Given the description of an element on the screen output the (x, y) to click on. 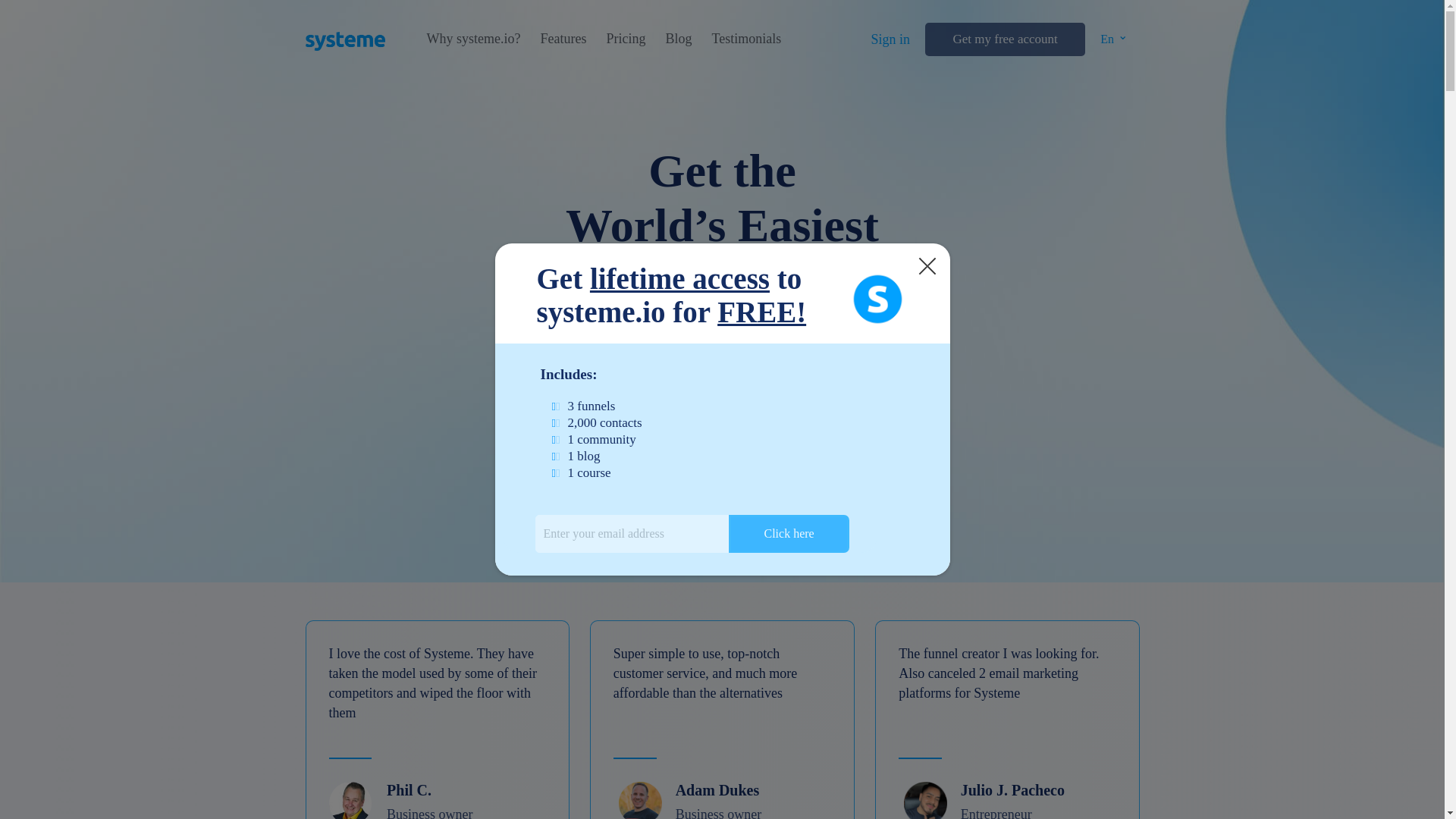
Why systeme.io? (472, 38)
Get my free account (1004, 39)
Pricing (625, 38)
Sign in (890, 39)
Blog (678, 38)
Features (563, 38)
Testimonials (745, 38)
